Given the description of an element on the screen output the (x, y) to click on. 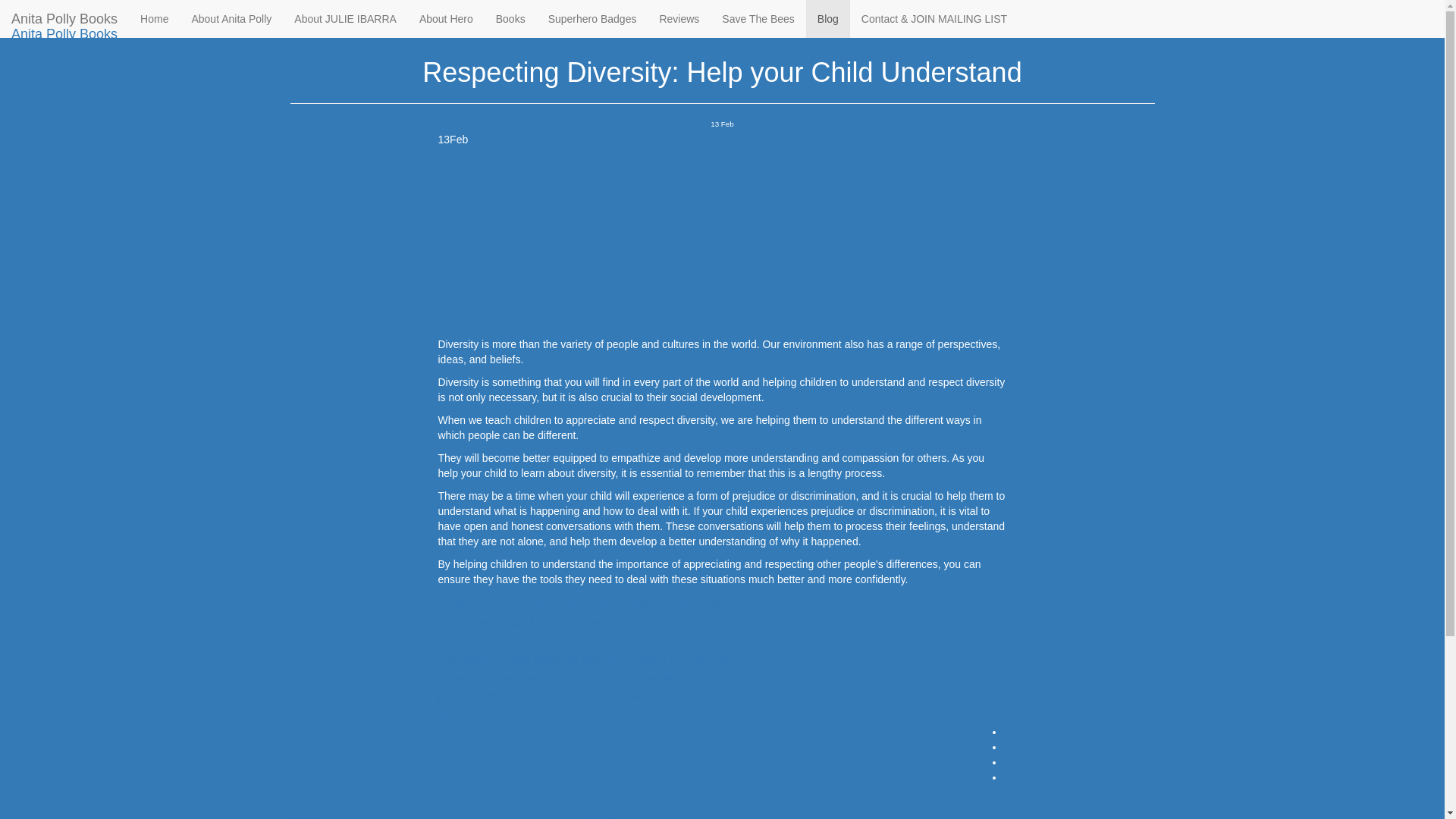
Blog (828, 18)
Anita Polly Books (64, 34)
childrenanddiversity (485, 603)
understandingdiversity (532, 622)
diversebooks (689, 603)
understanding (680, 622)
diversityeducation (599, 641)
readingforunderstanding (495, 641)
Home (303, 12)
bookshelf (555, 660)
Blog (342, 12)
About JULIE IBARRA (344, 18)
education (668, 641)
teachyourchildren (624, 660)
About Anita Polly (230, 18)
